Given the description of an element on the screen output the (x, y) to click on. 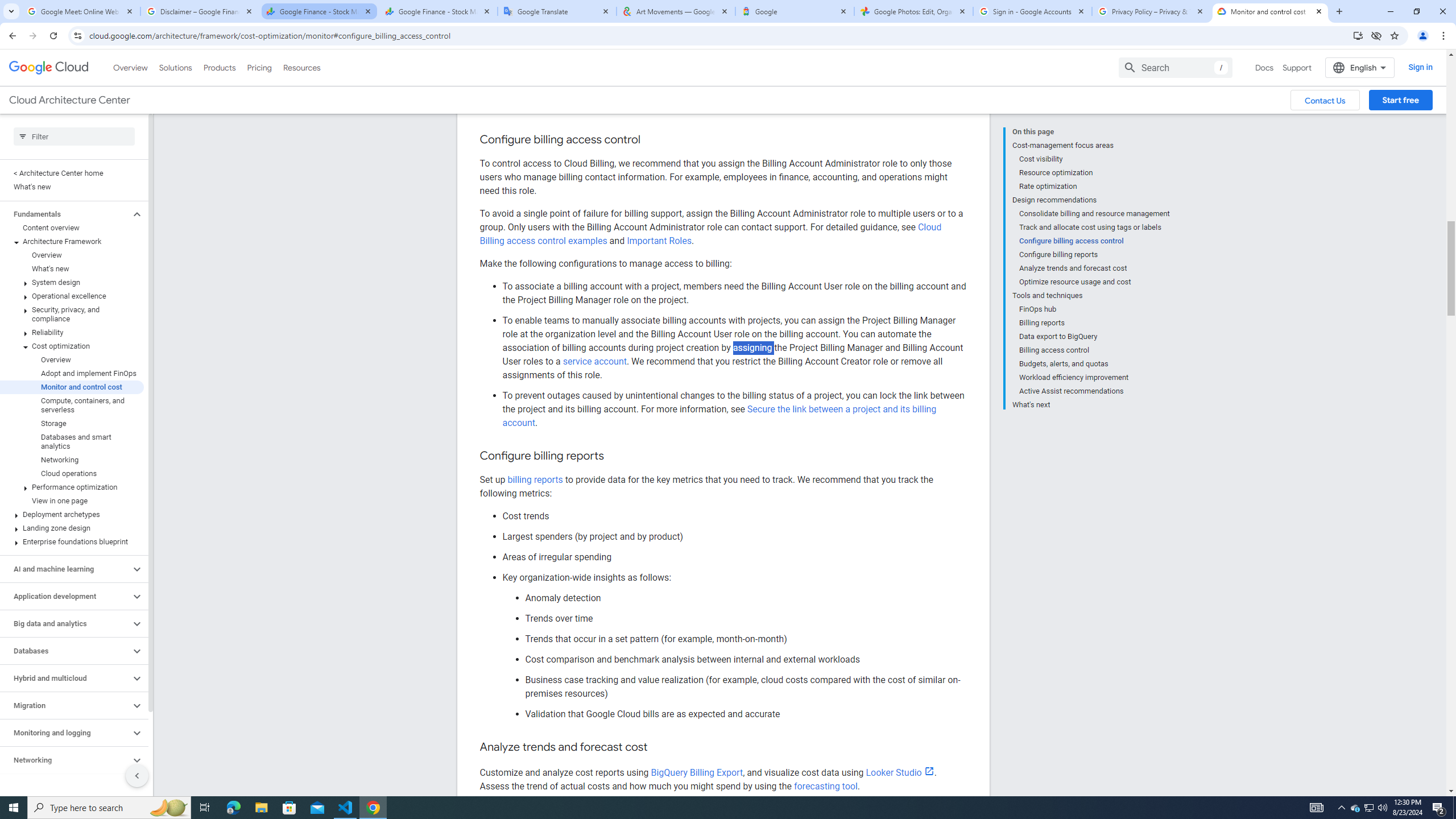
Reliability (72, 282)
Configure billing access control (1094, 191)
Solutions (175, 18)
Support (1296, 18)
What's new (72, 219)
Deployment archetypes (72, 464)
Tools and techniques (1090, 246)
Performance optimization (72, 437)
Configure billing reports (1094, 205)
Networking (72, 410)
Cloud operations (72, 423)
Cost optimization (72, 296)
